Given the description of an element on the screen output the (x, y) to click on. 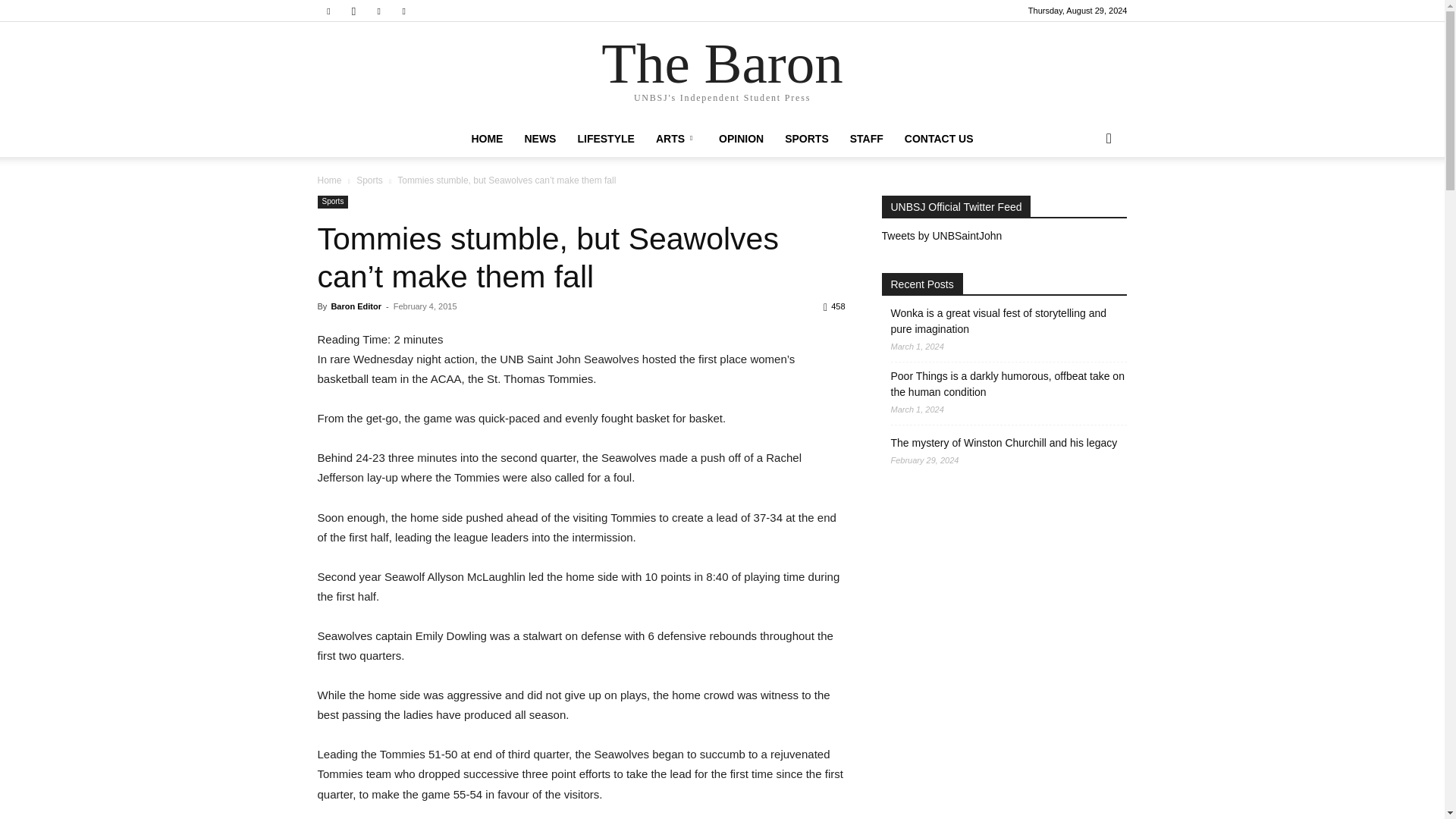
WordPress (403, 10)
Instagram (353, 10)
Mail (379, 10)
NEWS (539, 138)
Sports (369, 180)
SPORTS (807, 138)
ARTS (676, 138)
OPINION (740, 138)
HOME (486, 138)
CONTACT US (938, 138)
